Given the description of an element on the screen output the (x, y) to click on. 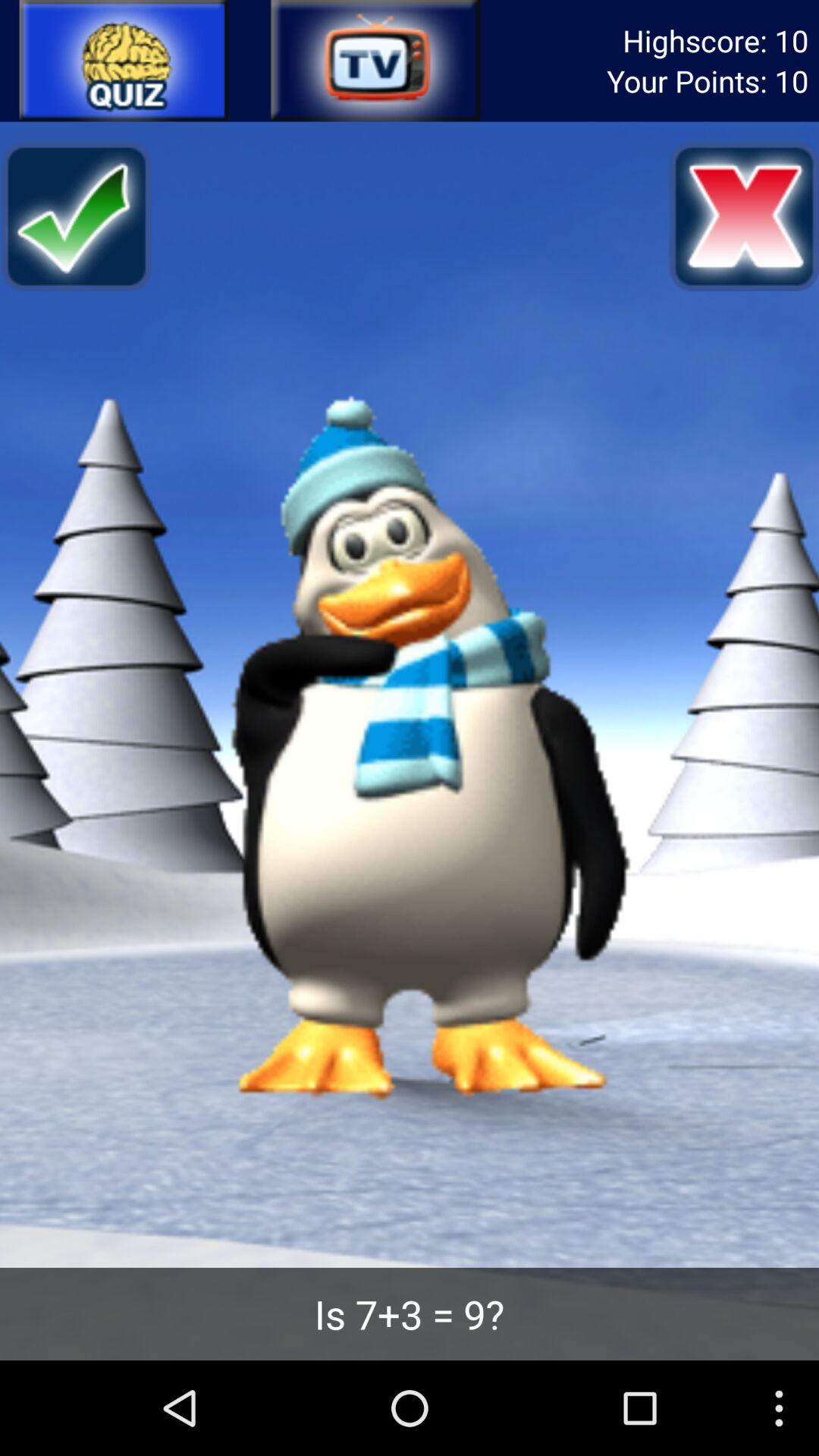
play option (124, 60)
